Given the description of an element on the screen output the (x, y) to click on. 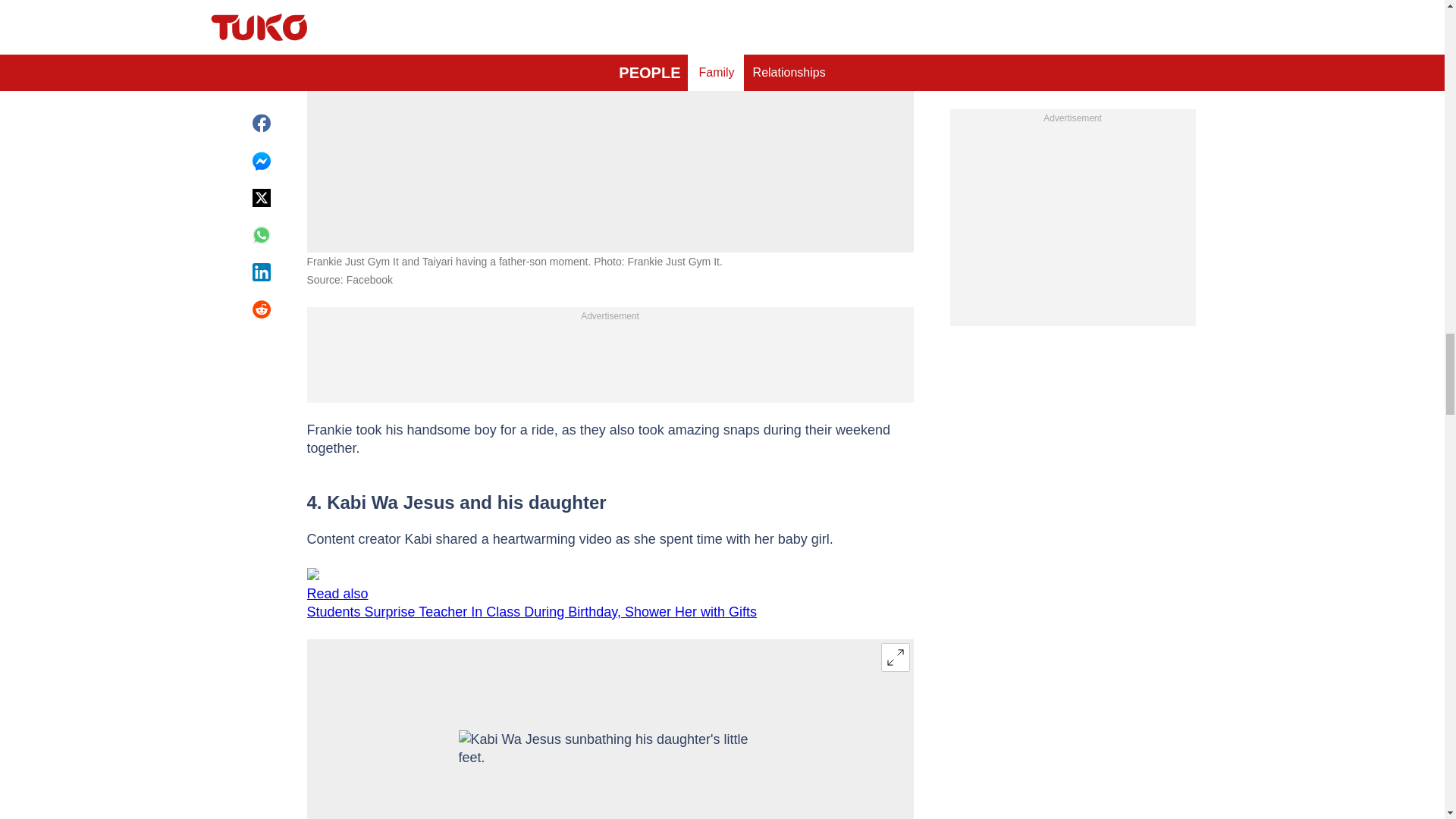
Kabi Wa Jesus sunbathing his daughter's little feet. (609, 774)
Frankie Just Gym It and Taiyari having a father-son moment. (609, 81)
Expand image (895, 656)
